Given the description of an element on the screen output the (x, y) to click on. 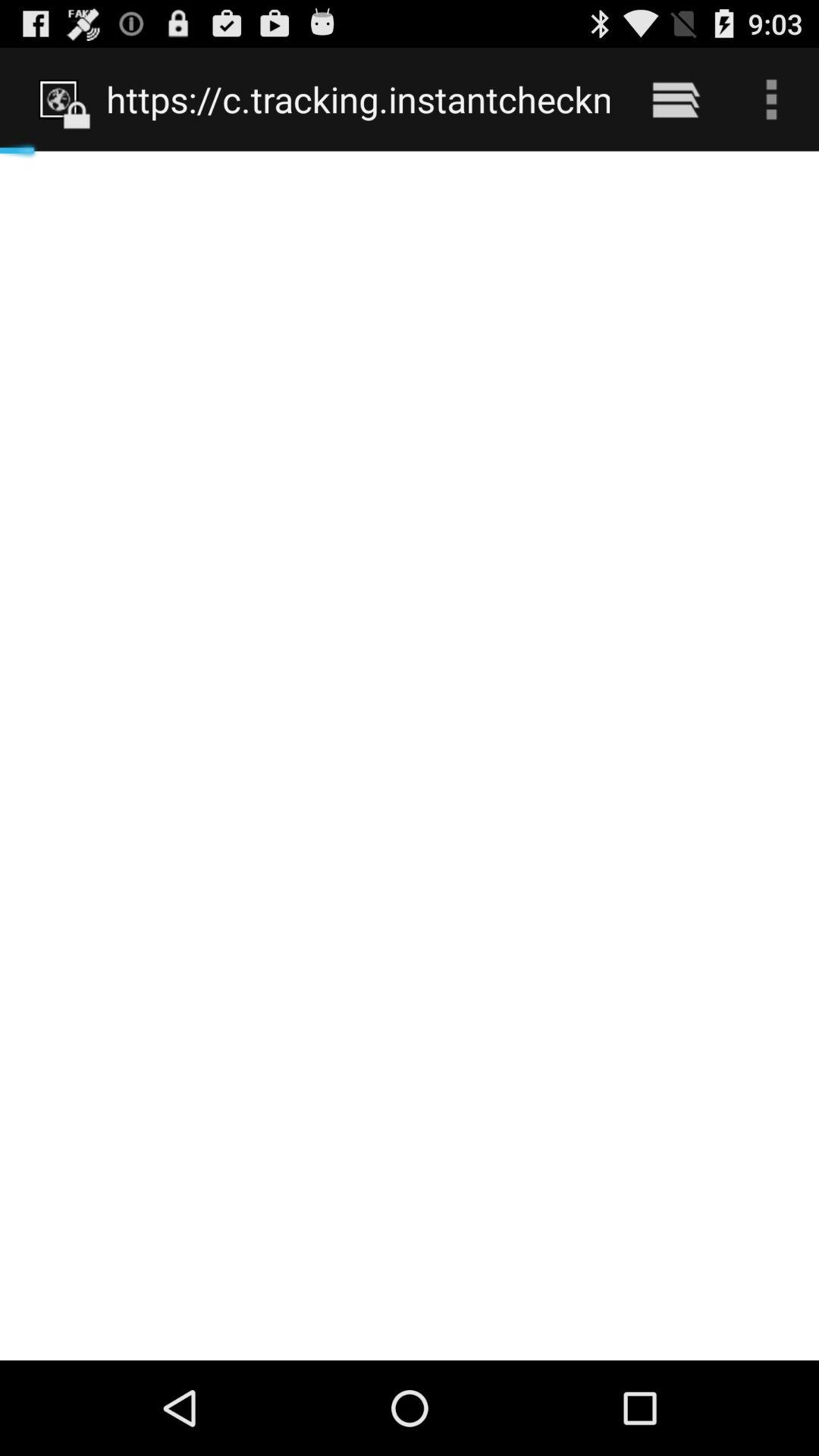
choose the https www phone (357, 99)
